Given the description of an element on the screen output the (x, y) to click on. 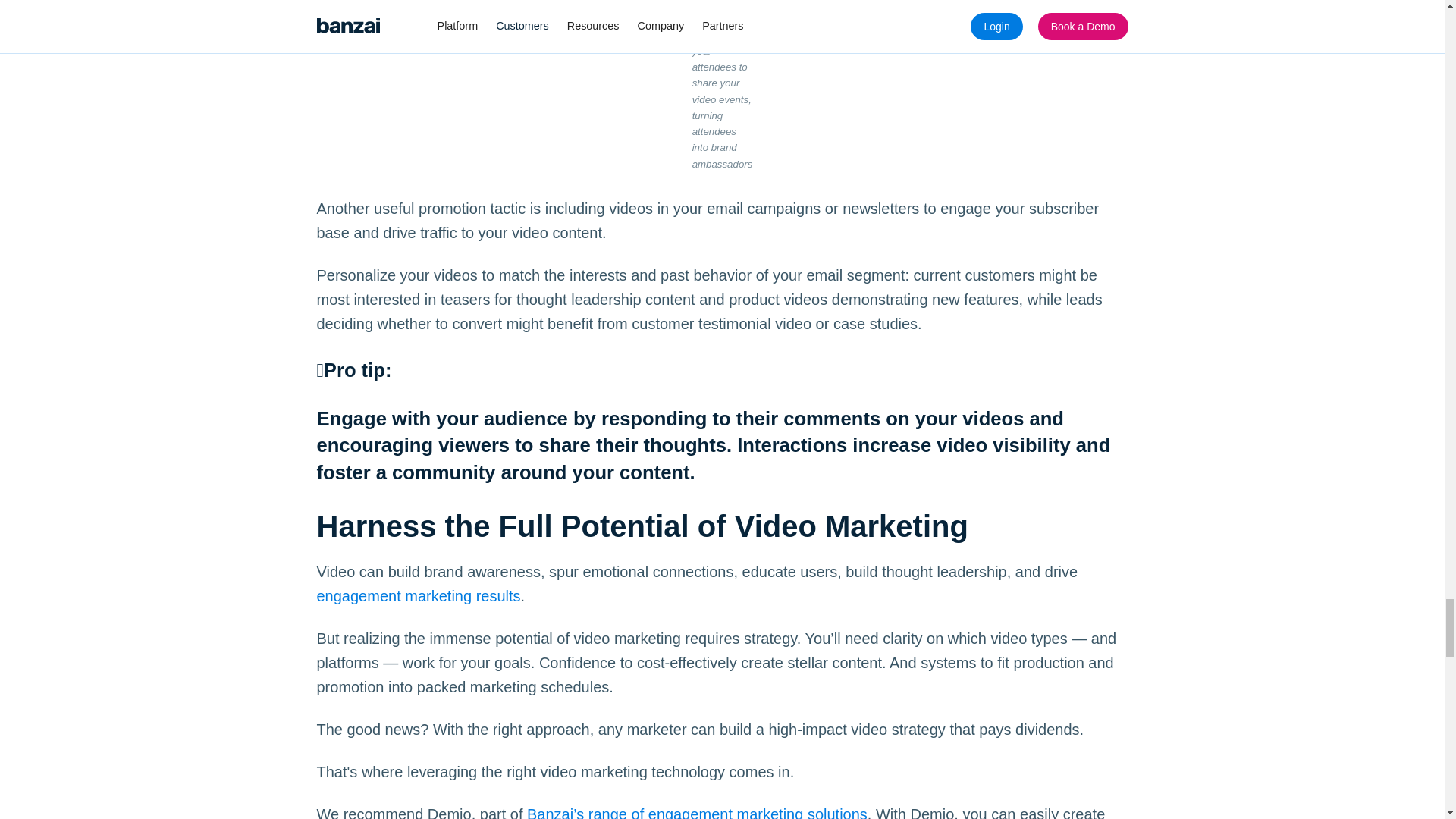
engagement marketing results (419, 596)
Boost (736, 18)
